Given the description of an element on the screen output the (x, y) to click on. 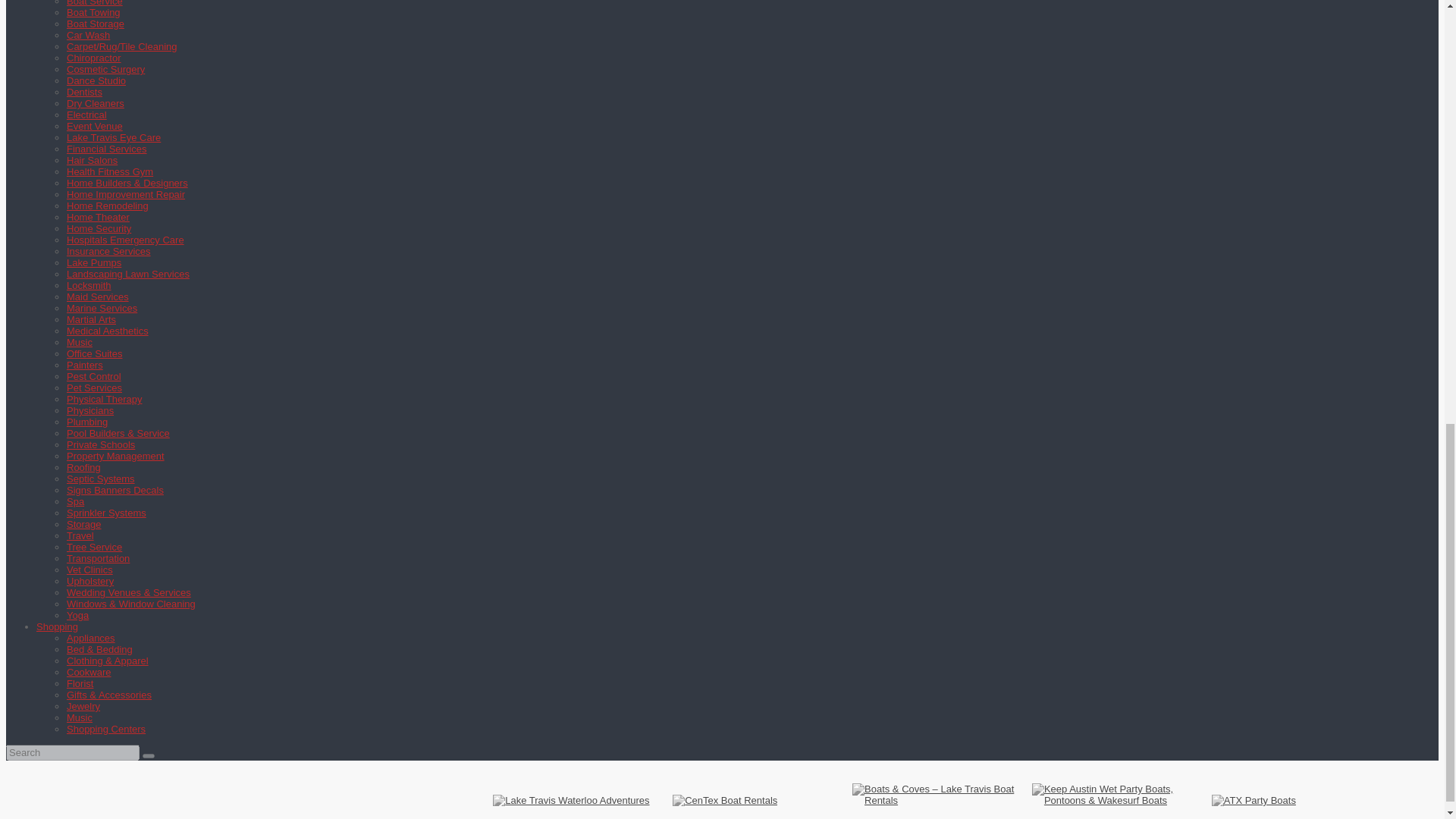
ATX Party Boats (1253, 799)
Search for: (72, 752)
Lake Travis Waterloo Adventures (571, 799)
CenTex Boat Rentals (724, 799)
